Given the description of an element on the screen output the (x, y) to click on. 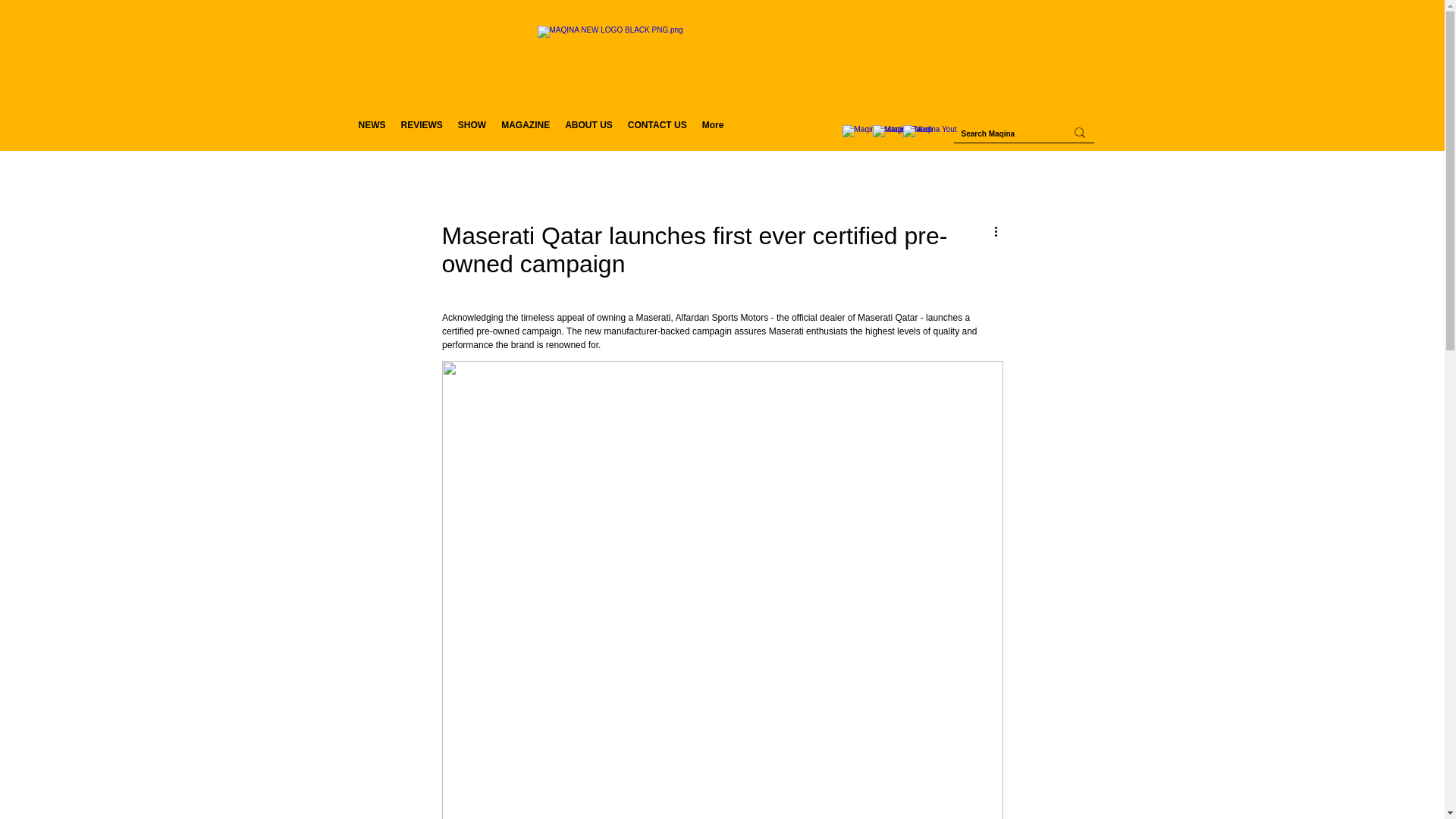
NEWS (371, 132)
CONTACT US (657, 132)
MAGAZINE (525, 132)
REVIEWS (421, 132)
SHOW (471, 132)
ABOUT US (588, 132)
